Given the description of an element on the screen output the (x, y) to click on. 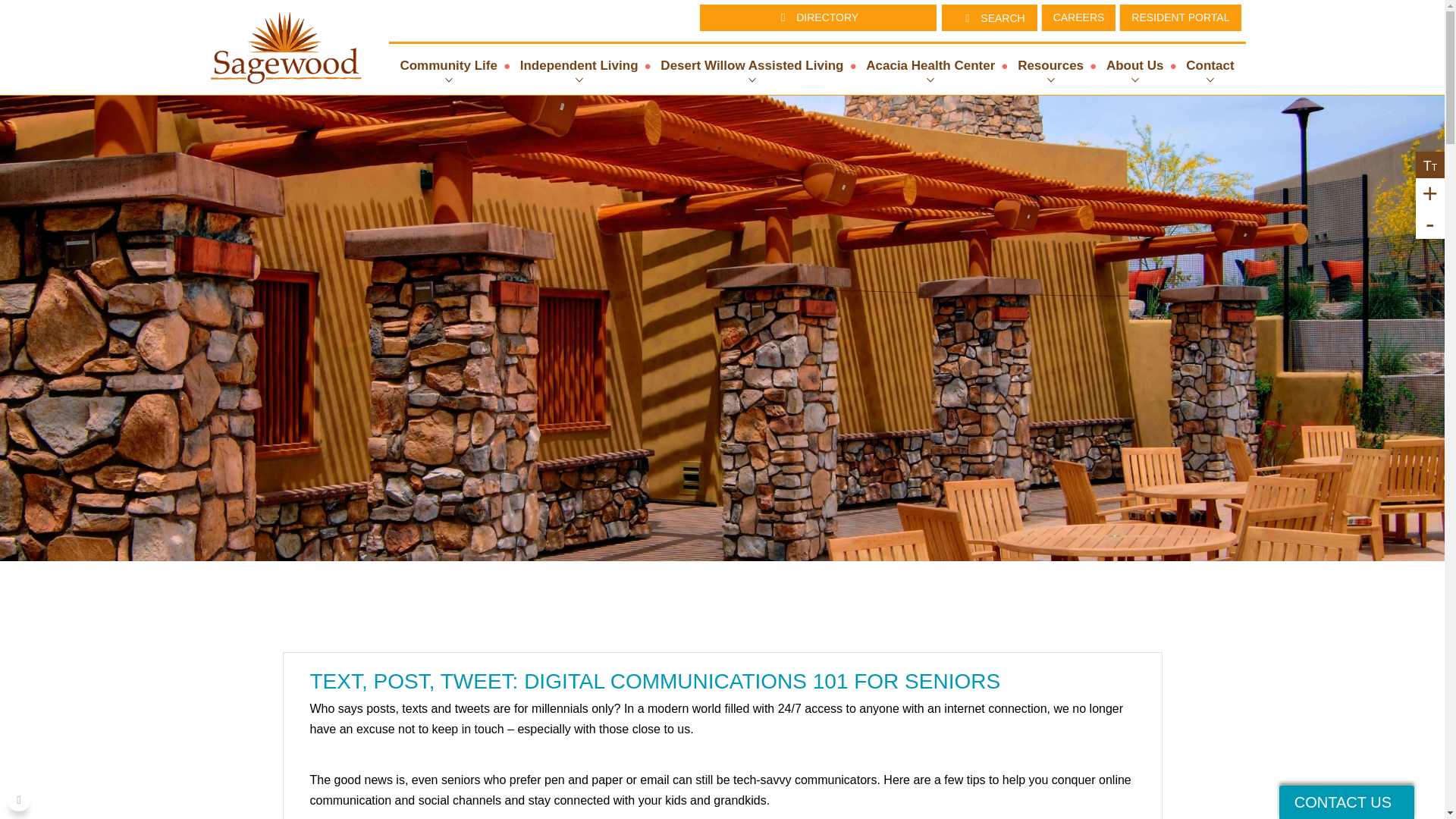
Desert Willow Assisted Living (751, 66)
About Us (1134, 66)
Independent Living (578, 66)
SEARCH (989, 17)
Community Life (448, 66)
Contact (1209, 66)
Resources (1050, 66)
Acacia Health Center (930, 66)
CAREERS (818, 53)
